Given the description of an element on the screen output the (x, y) to click on. 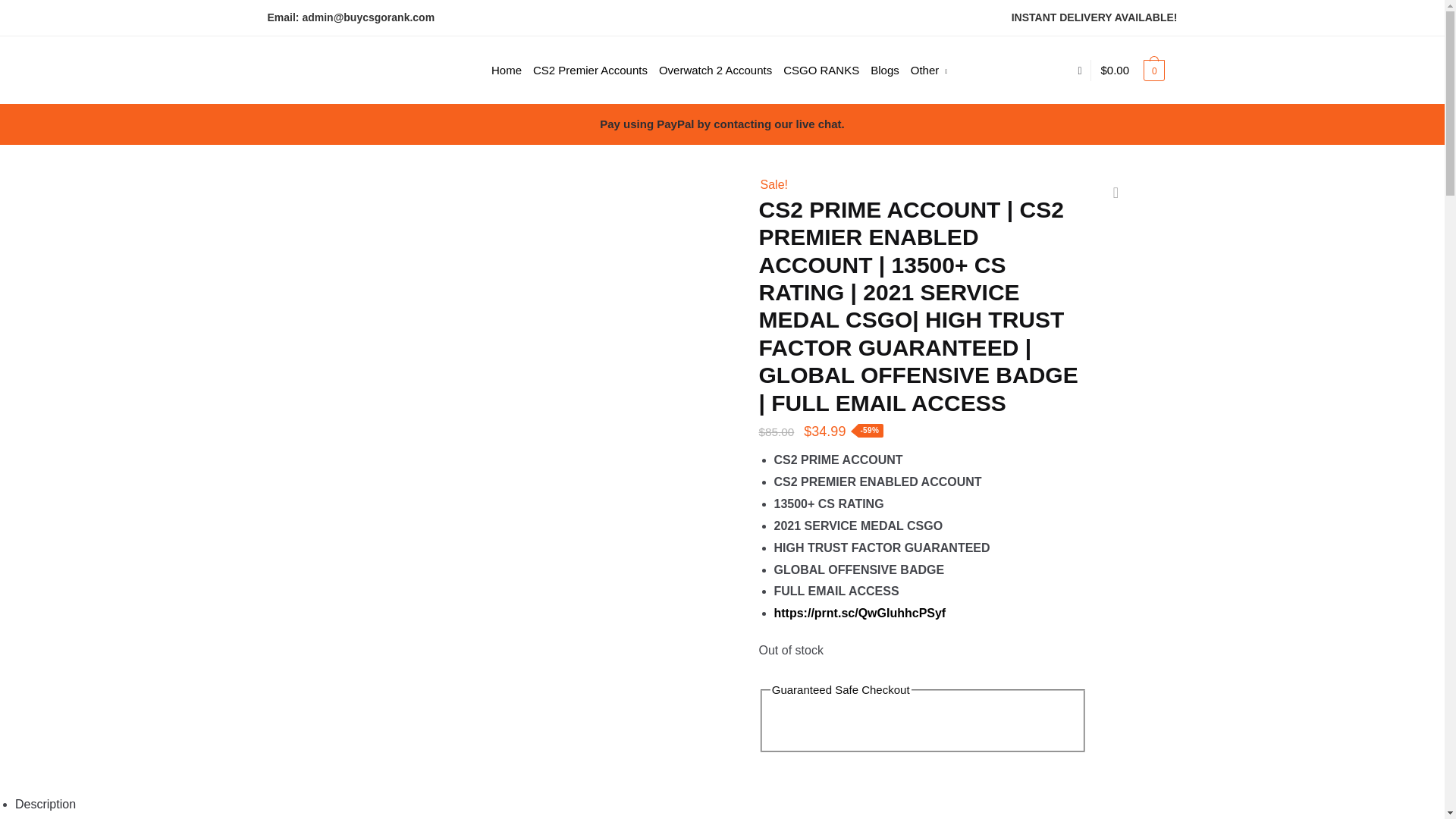
Search (470, 45)
CS2 Premier Accounts (589, 70)
INSTANT DELIVERY AVAILABLE! (1094, 17)
View your shopping cart (1133, 70)
CSGO RANKS (821, 70)
Overwatch 2 Accounts (715, 70)
